Given the description of an element on the screen output the (x, y) to click on. 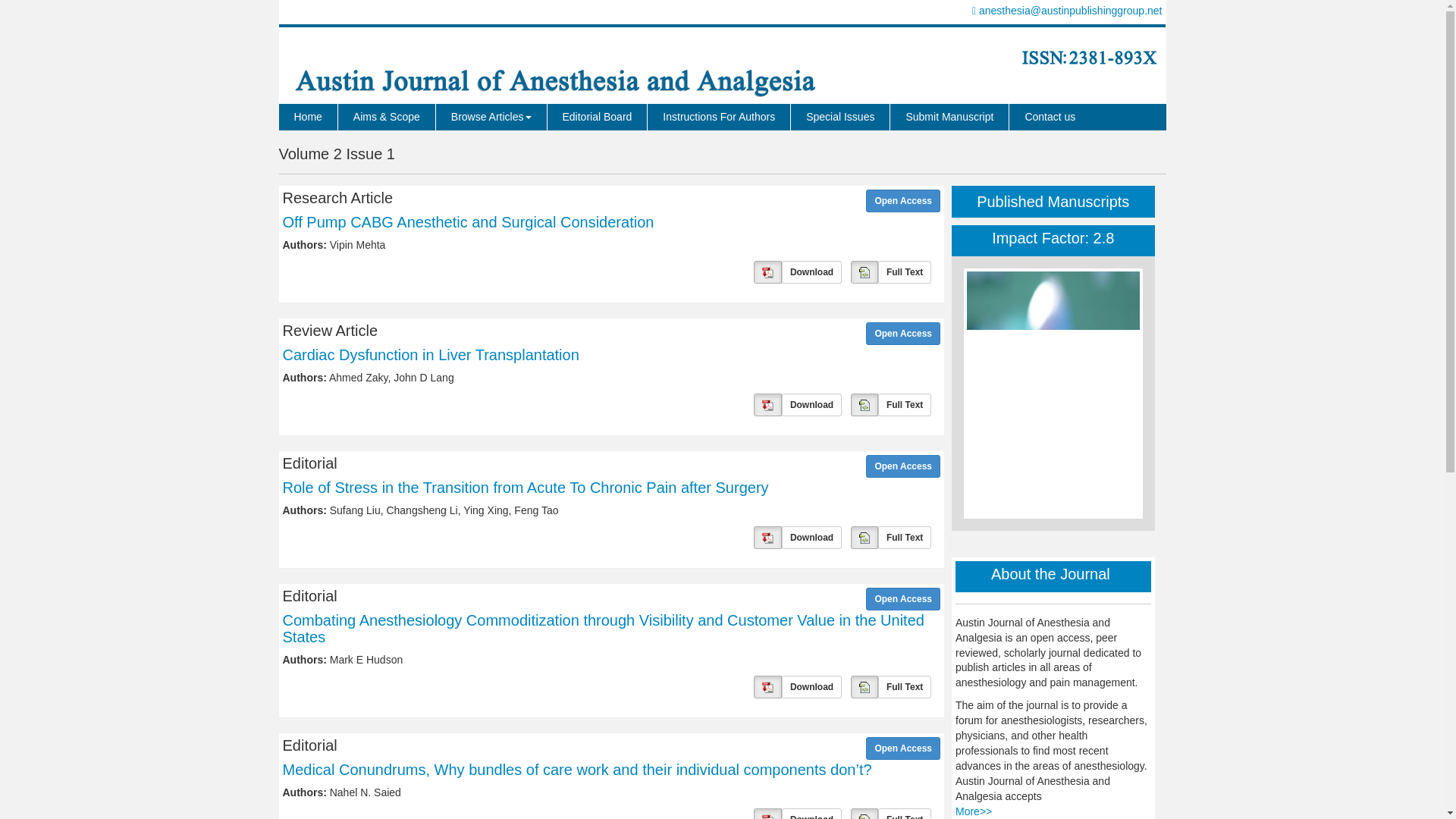
Download (811, 537)
Download (811, 271)
Download (811, 272)
Full Text (904, 404)
Full Text (904, 536)
Submit Manuscript (949, 117)
Off Pump CABG Anesthetic and Surgical Consideration (467, 221)
Open Access (903, 599)
Open Access (903, 200)
